Given the description of an element on the screen output the (x, y) to click on. 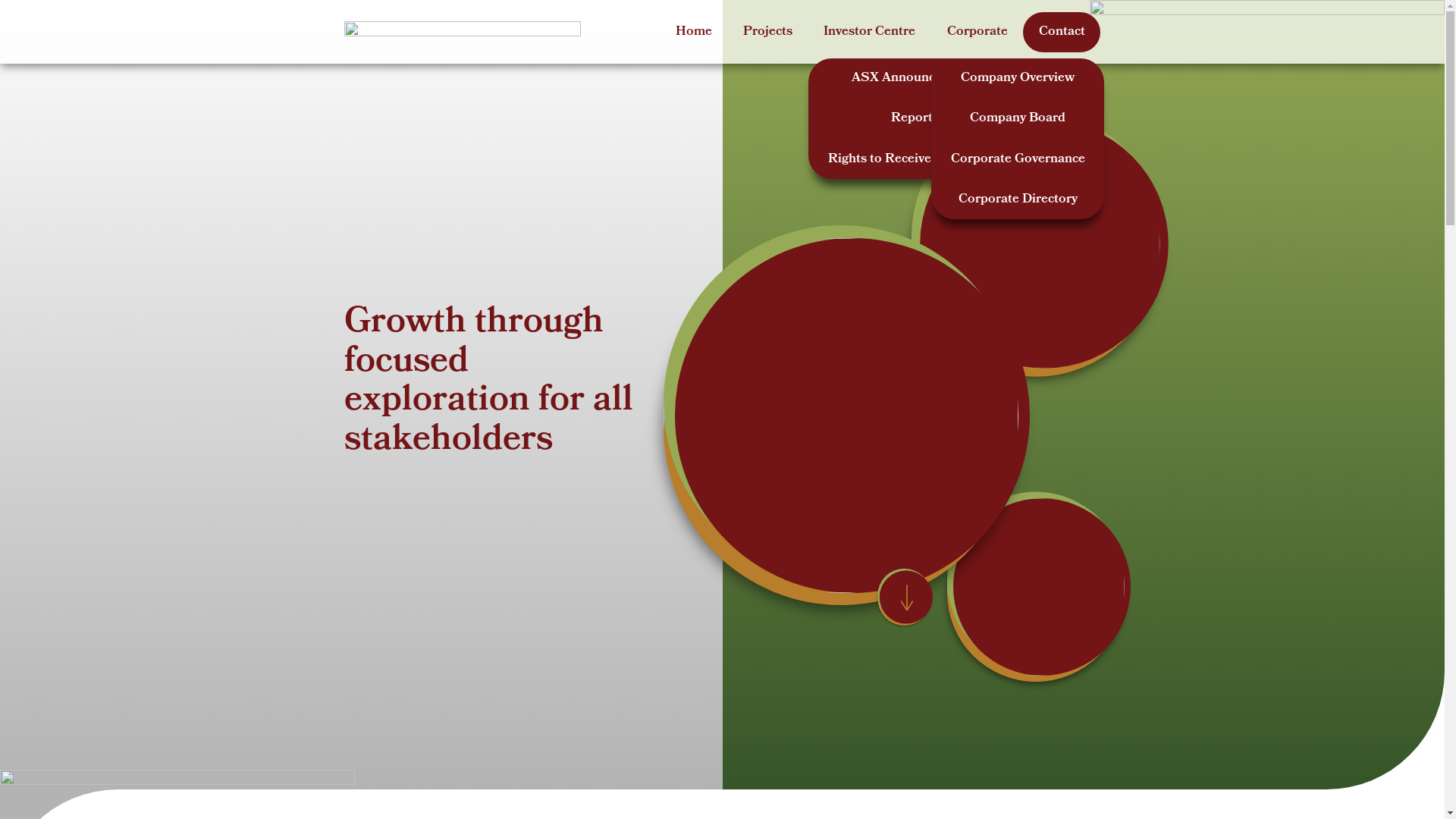
Corporate Directory Element type: text (1017, 198)
Reports Element type: text (914, 118)
Corporate Governance Element type: text (1017, 158)
Investor Centre Element type: text (869, 32)
Corporate Element type: text (976, 32)
Contact Element type: text (1061, 32)
Rights to Receive Documents Element type: text (914, 158)
Company Board Element type: text (1017, 118)
ASX Announcements Element type: text (914, 78)
Company Overview Element type: text (1017, 78)
Home Element type: text (694, 32)
Projects Element type: text (768, 32)
